Given the description of an element on the screen output the (x, y) to click on. 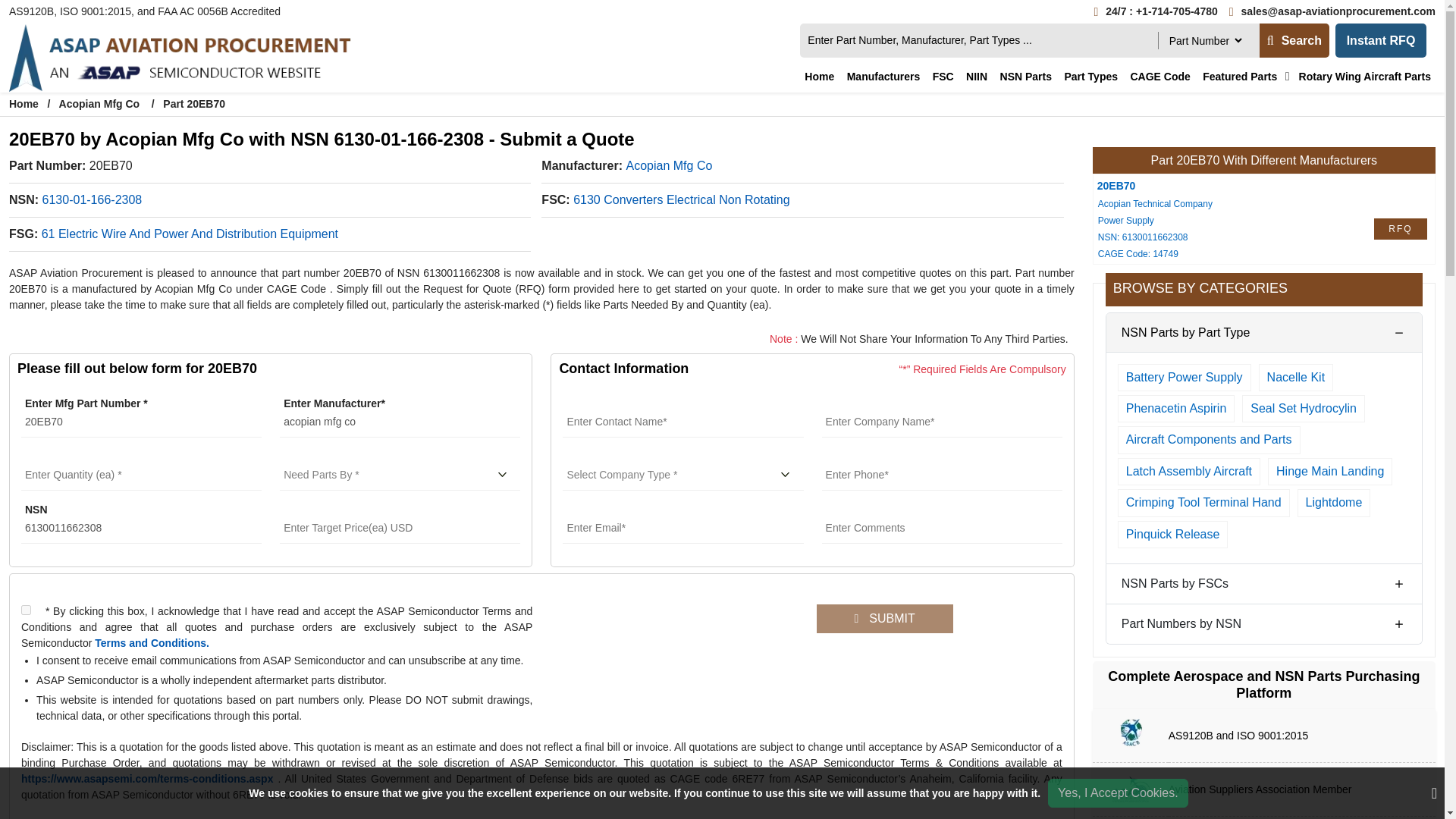
Manufacturers (883, 76)
NIIN (975, 76)
Home (818, 76)
NSN Parts (1026, 76)
CAGE Code (1159, 76)
FSC (943, 76)
6130011662308 (141, 528)
Acopian Mfg Co (669, 168)
20EB70 (141, 422)
Home (23, 103)
